Given the description of an element on the screen output the (x, y) to click on. 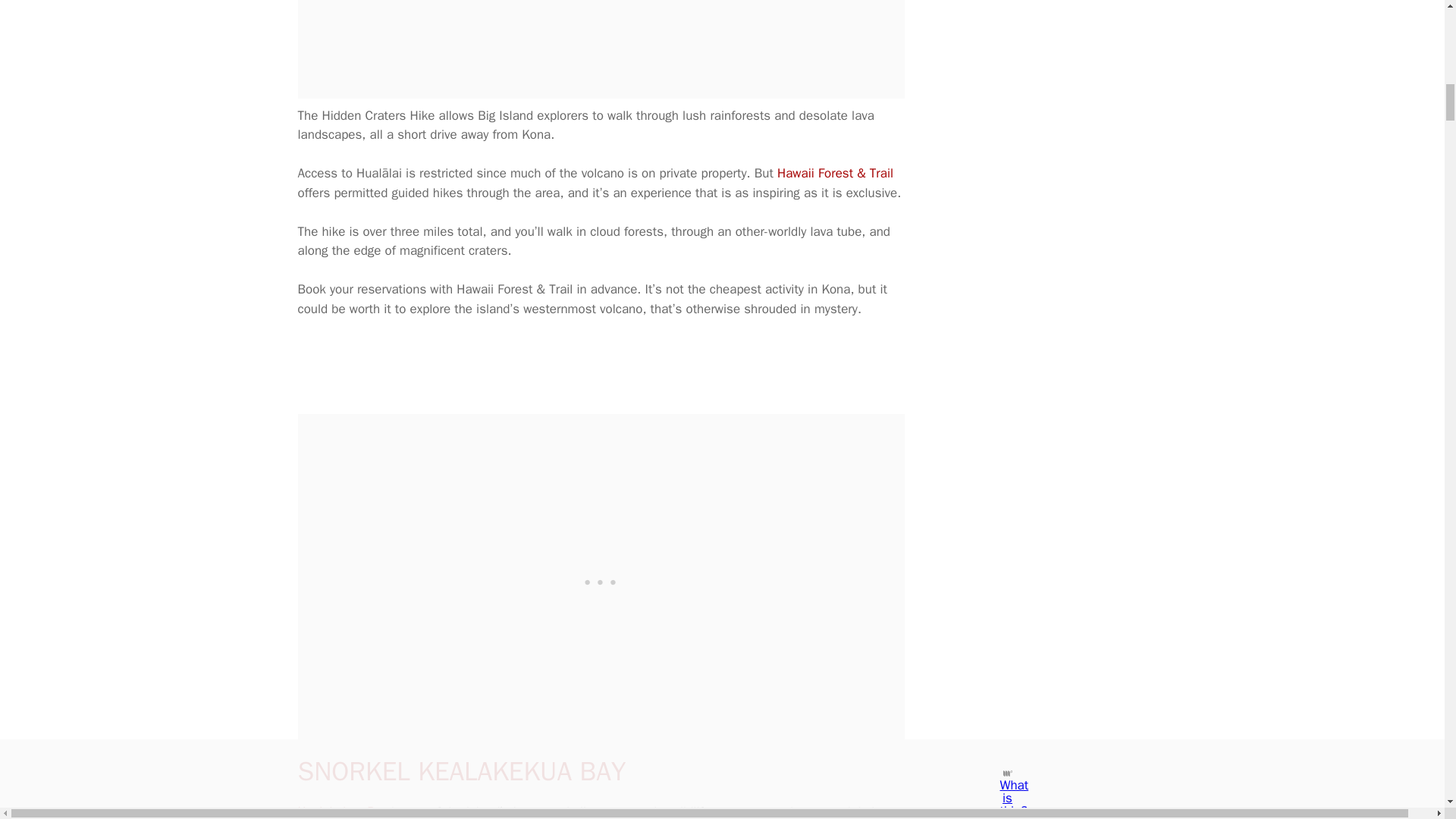
Kealakekua Bay (342, 811)
